Given the description of an element on the screen output the (x, y) to click on. 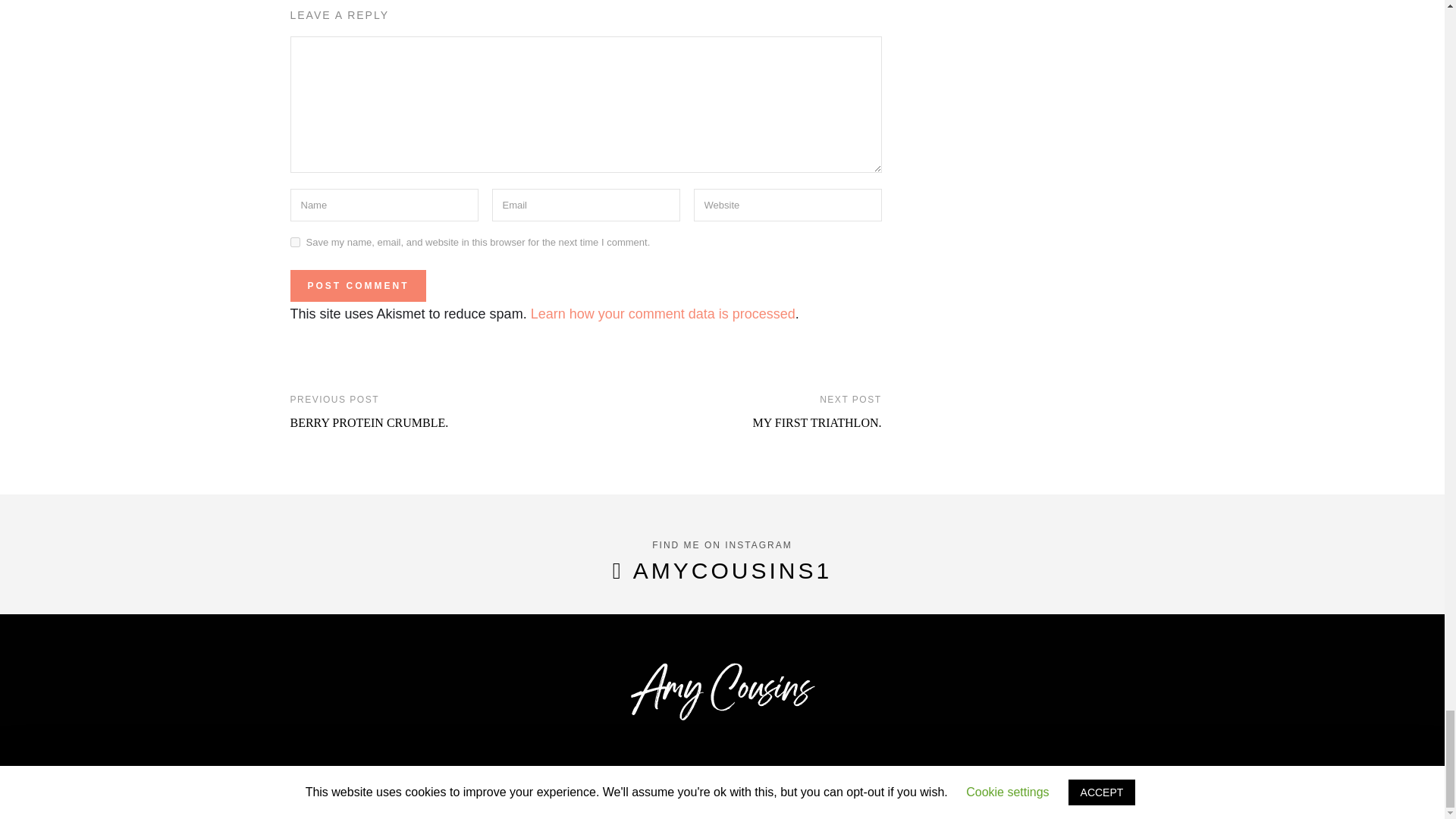
yes (294, 242)
Post Comment (357, 286)
